Given the description of an element on the screen output the (x, y) to click on. 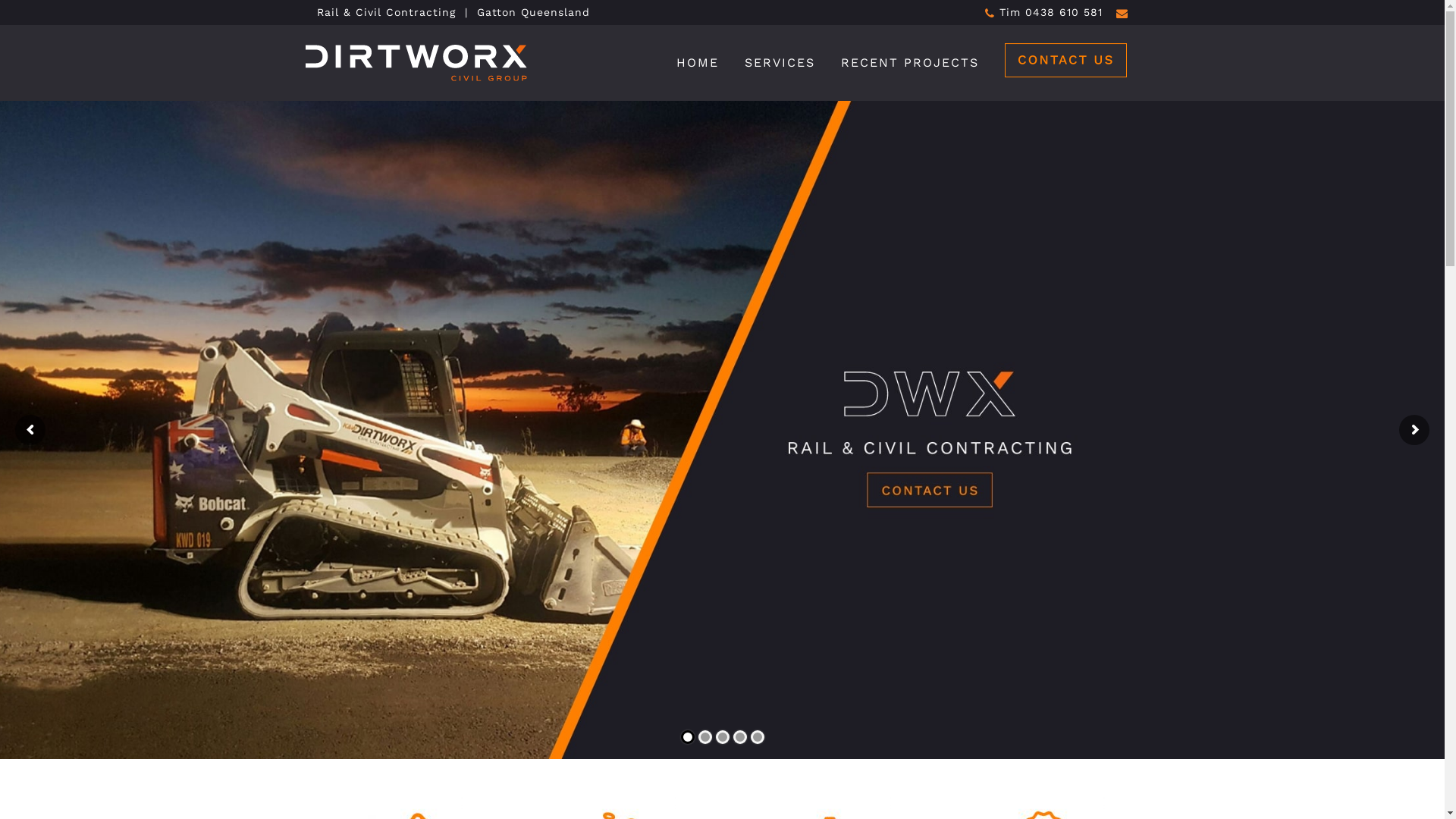
RECENT PROJECTS Element type: text (909, 62)
HOME Element type: text (696, 62)
SERVICES Element type: text (779, 62)
